Given the description of an element on the screen output the (x, y) to click on. 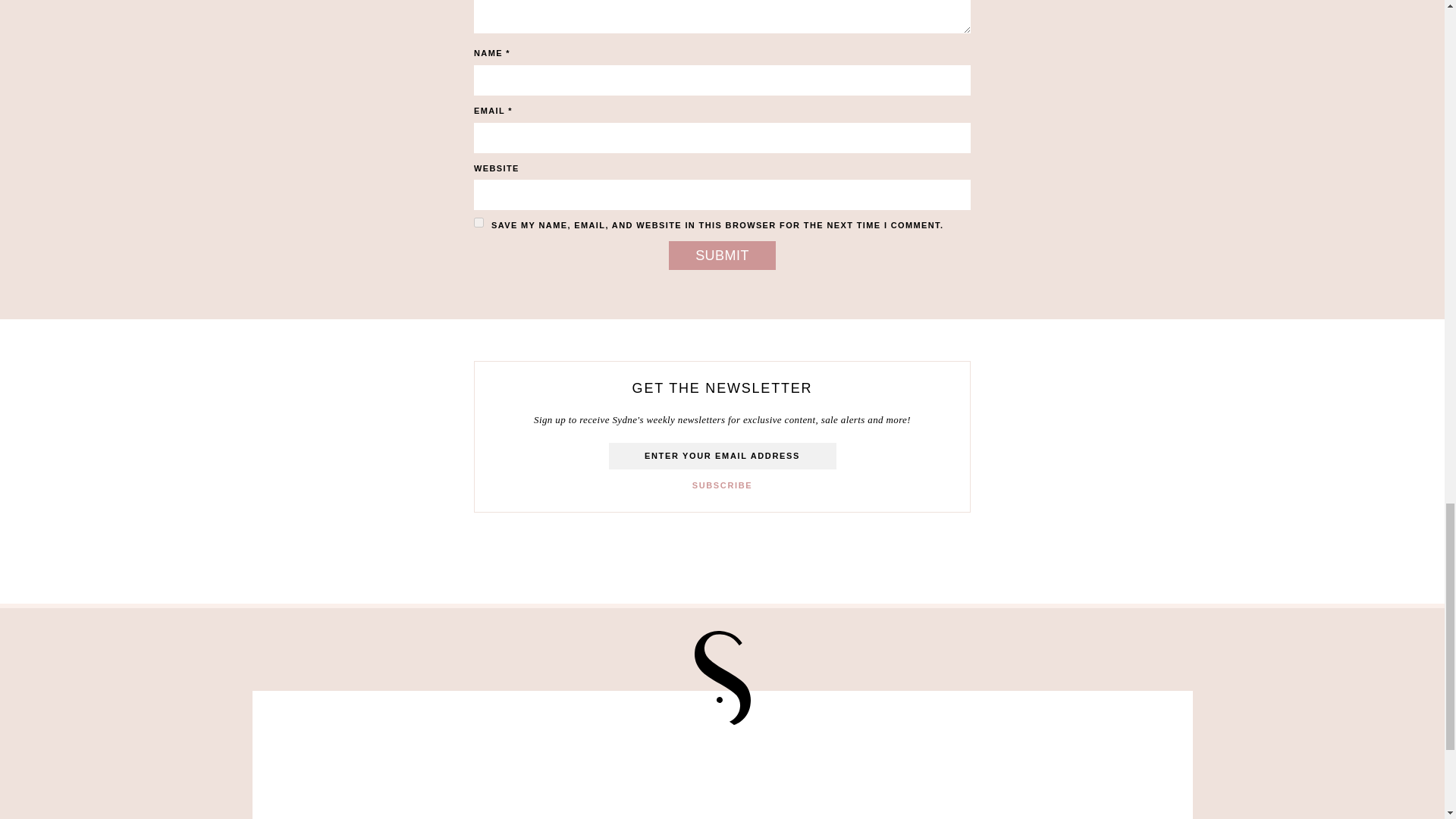
yes (478, 222)
Subscribe (722, 485)
Submit (722, 255)
